Given the description of an element on the screen output the (x, y) to click on. 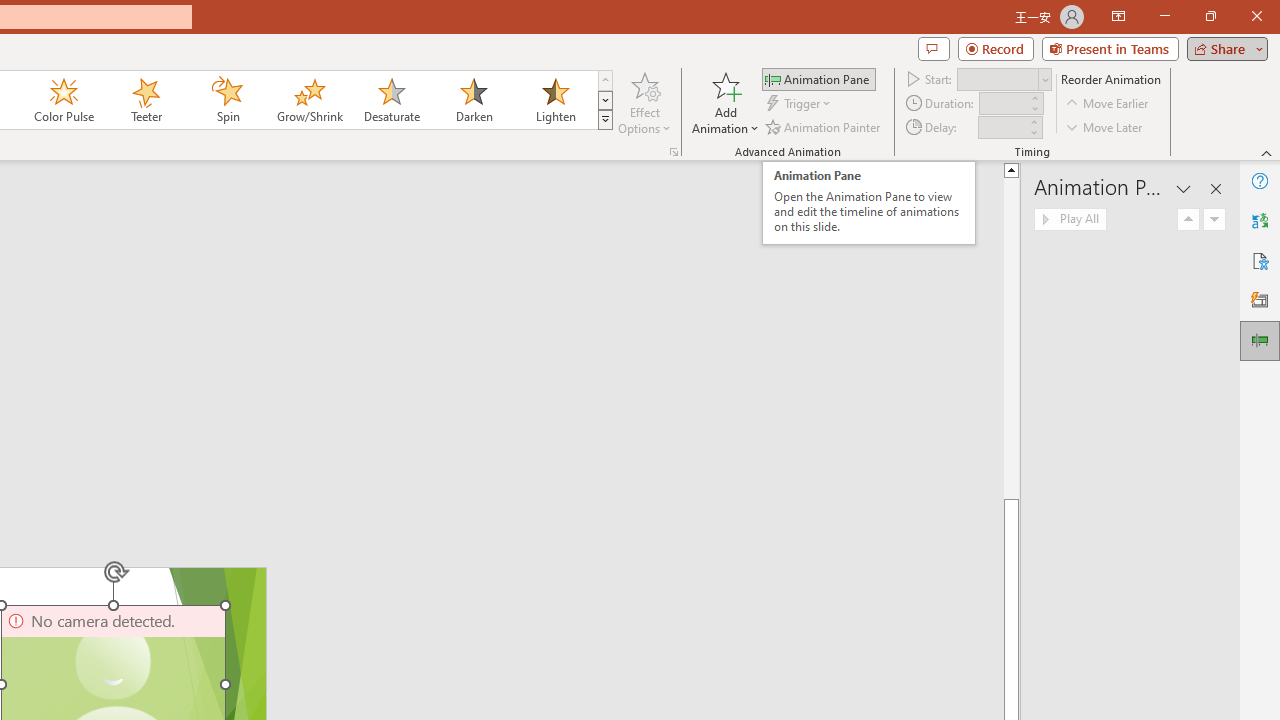
Move Later (1105, 126)
Trigger (799, 103)
